Given the description of an element on the screen output the (x, y) to click on. 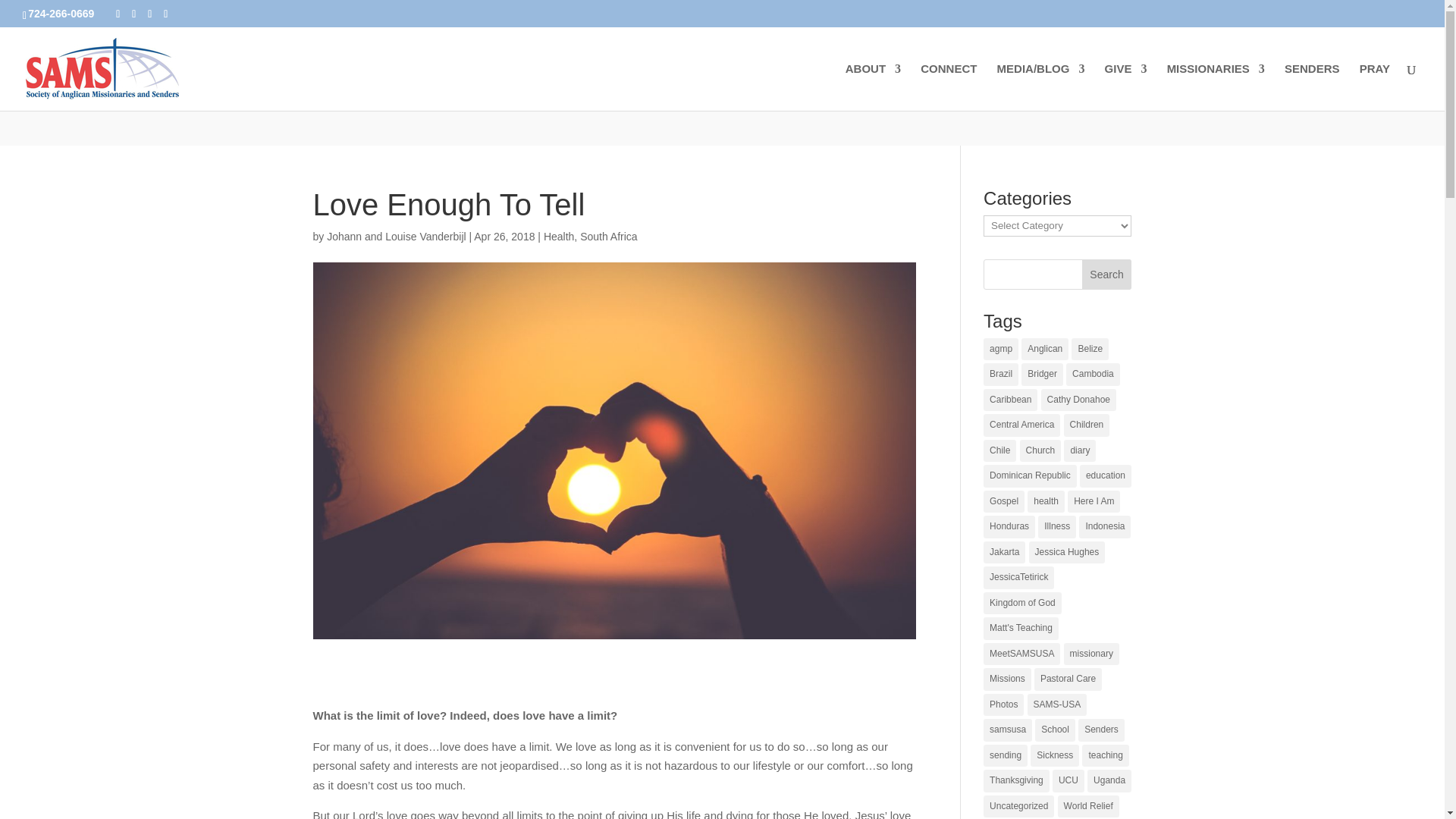
ABOUT (873, 86)
CONNECT (948, 86)
Search (1106, 274)
SENDERS (1311, 86)
Posts by Johann and Louise Vanderbijl (395, 236)
GIVE (1126, 86)
MISSIONARIES (1216, 86)
Click here for information (871, 16)
